Given the description of an element on the screen output the (x, y) to click on. 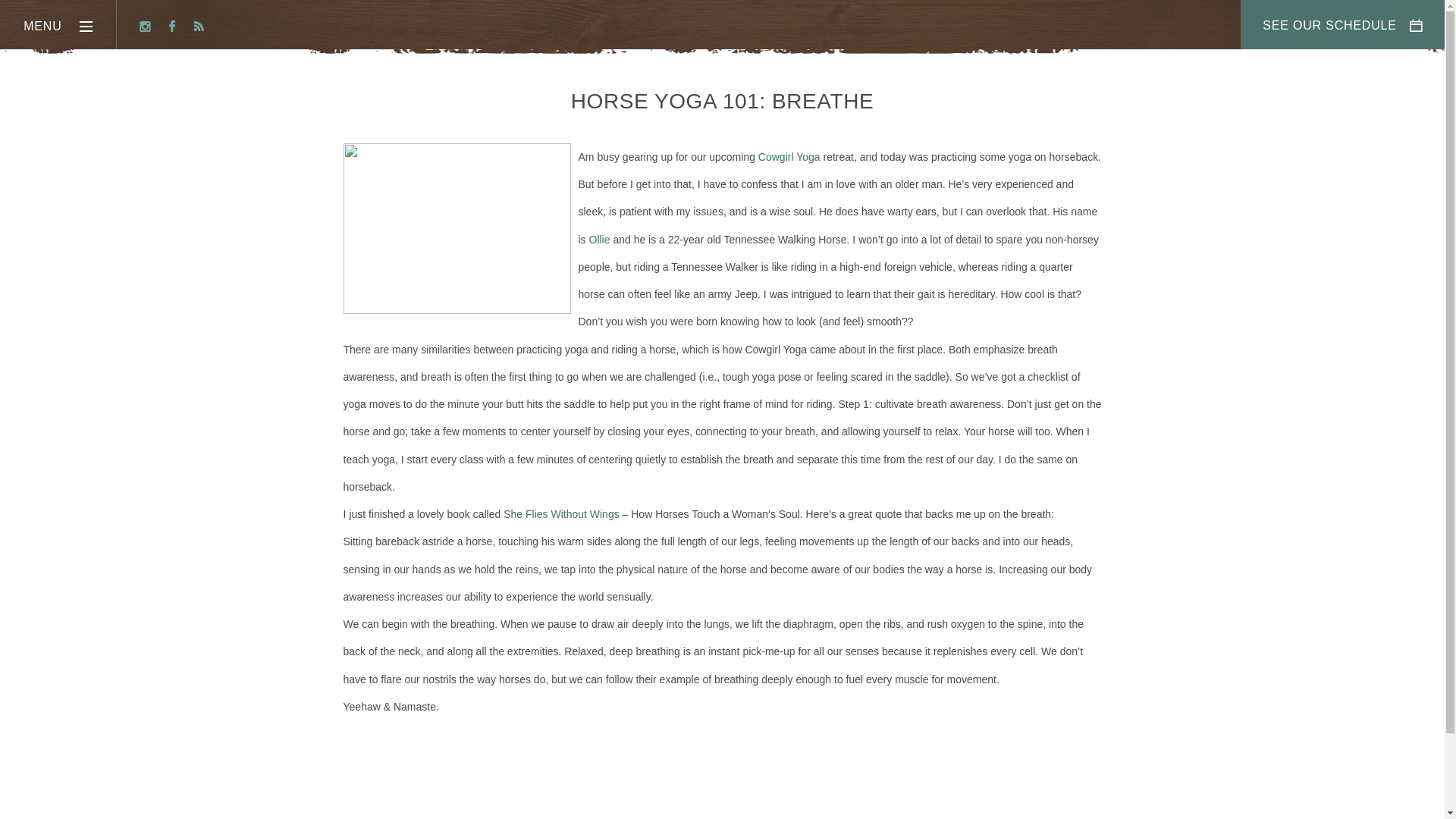
MENU (58, 24)
Cowgirl Yoga (789, 156)
Ollie (599, 239)
She Flies Without Wings (561, 513)
